Given the description of an element on the screen output the (x, y) to click on. 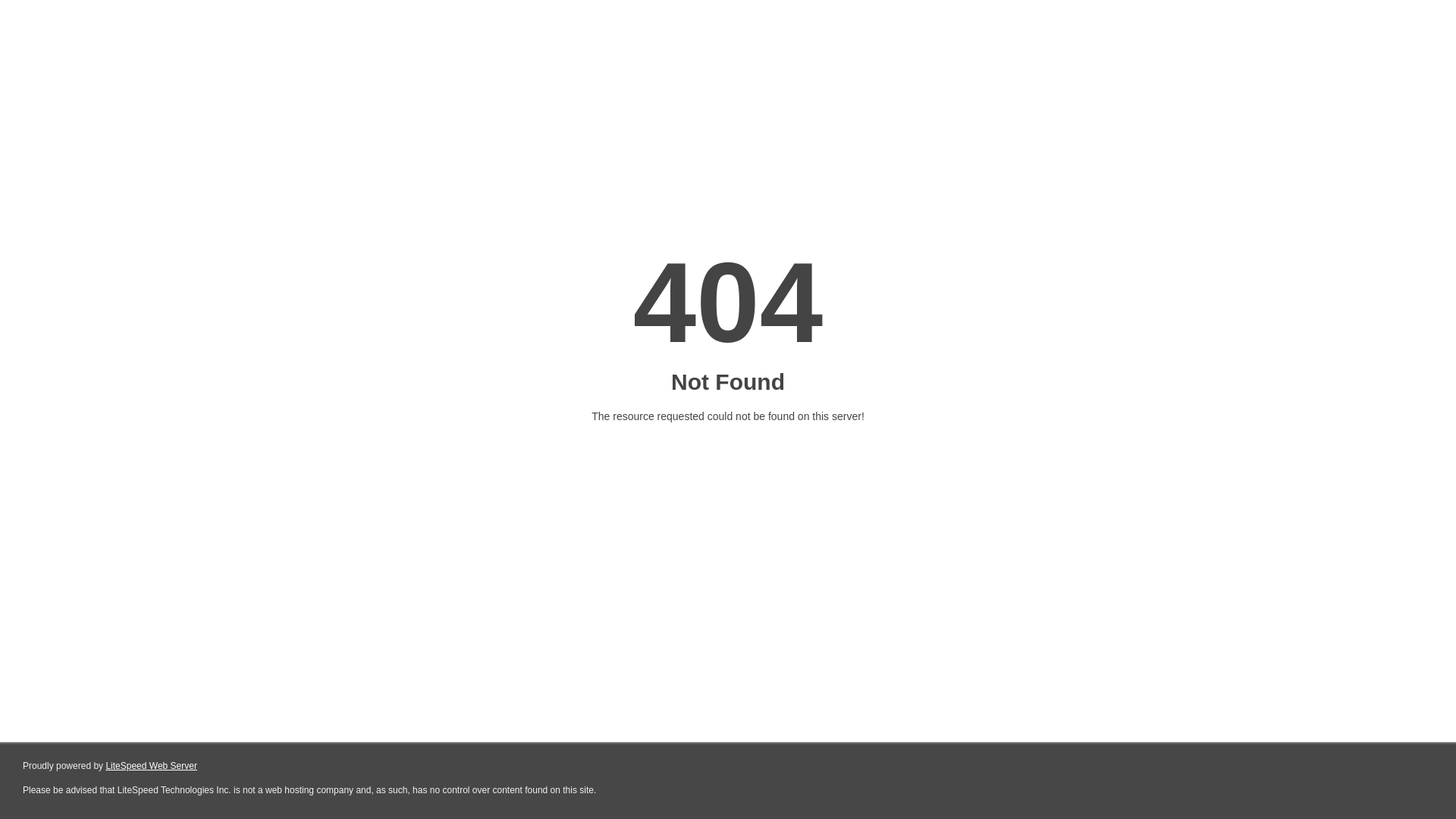
LiteSpeed Web Server Element type: text (151, 765)
